Given the description of an element on the screen output the (x, y) to click on. 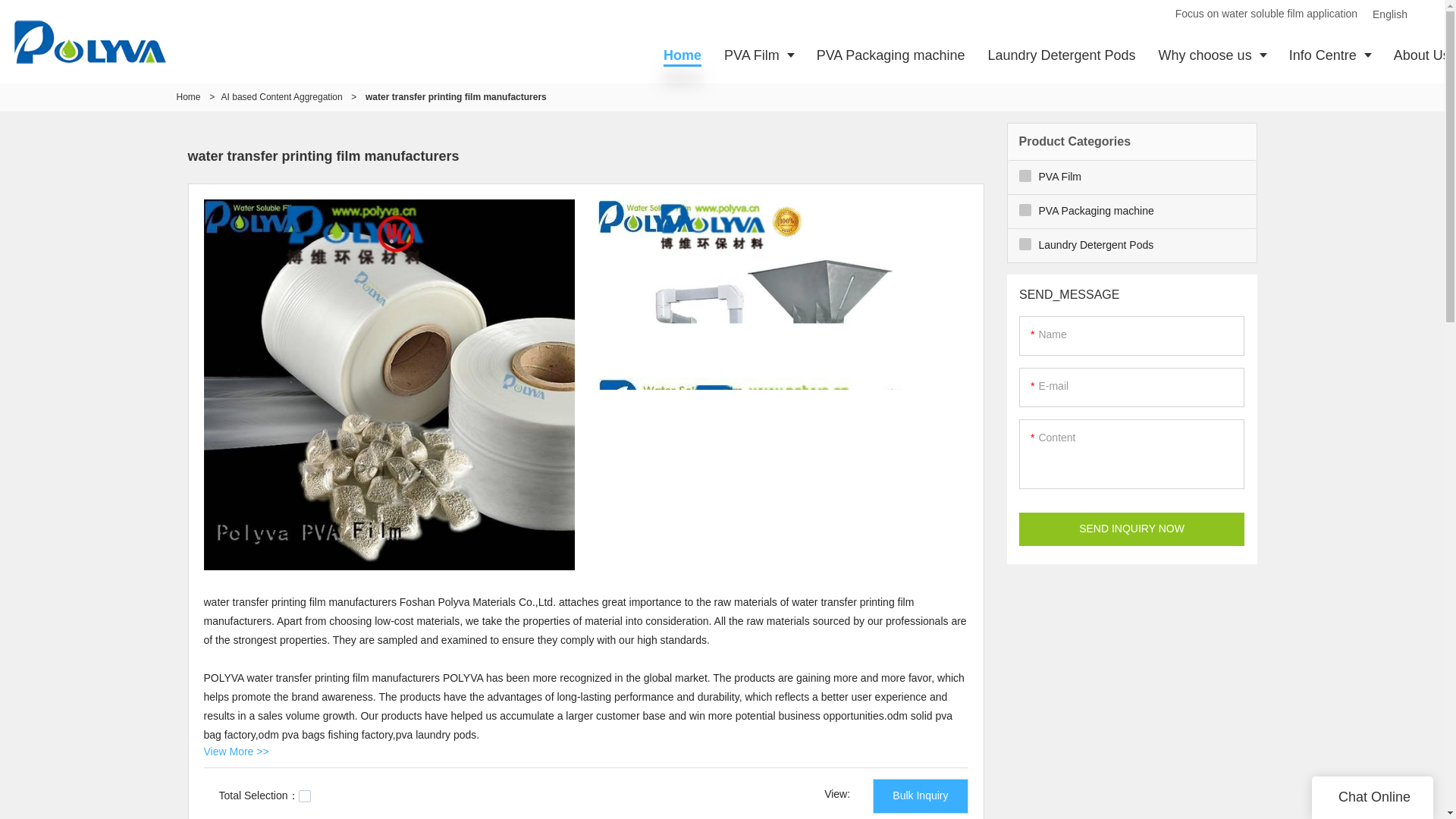
Why choose us (1212, 55)
AI based Content Aggregation (281, 96)
About Us (1418, 55)
Home (682, 55)
Laundry Detergent Pods (1061, 55)
PVA Packaging machine (890, 55)
Info Centre (1329, 55)
Home (188, 96)
on (304, 796)
PVA Film (759, 55)
